Given the description of an element on the screen output the (x, y) to click on. 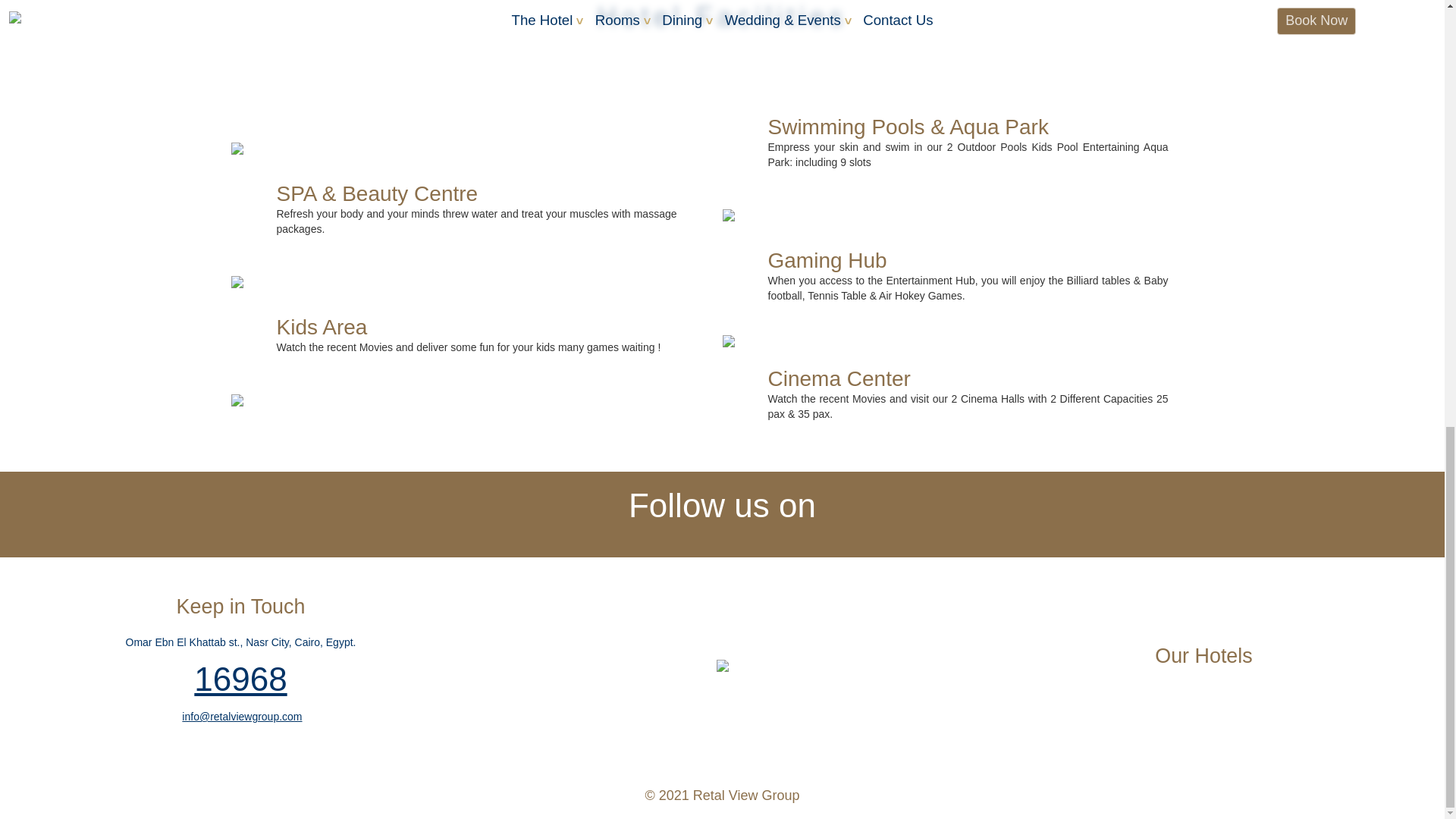
You Tube (753, 537)
16968 (239, 678)
Instagram (712, 537)
Facebook (670, 537)
